Given the description of an element on the screen output the (x, y) to click on. 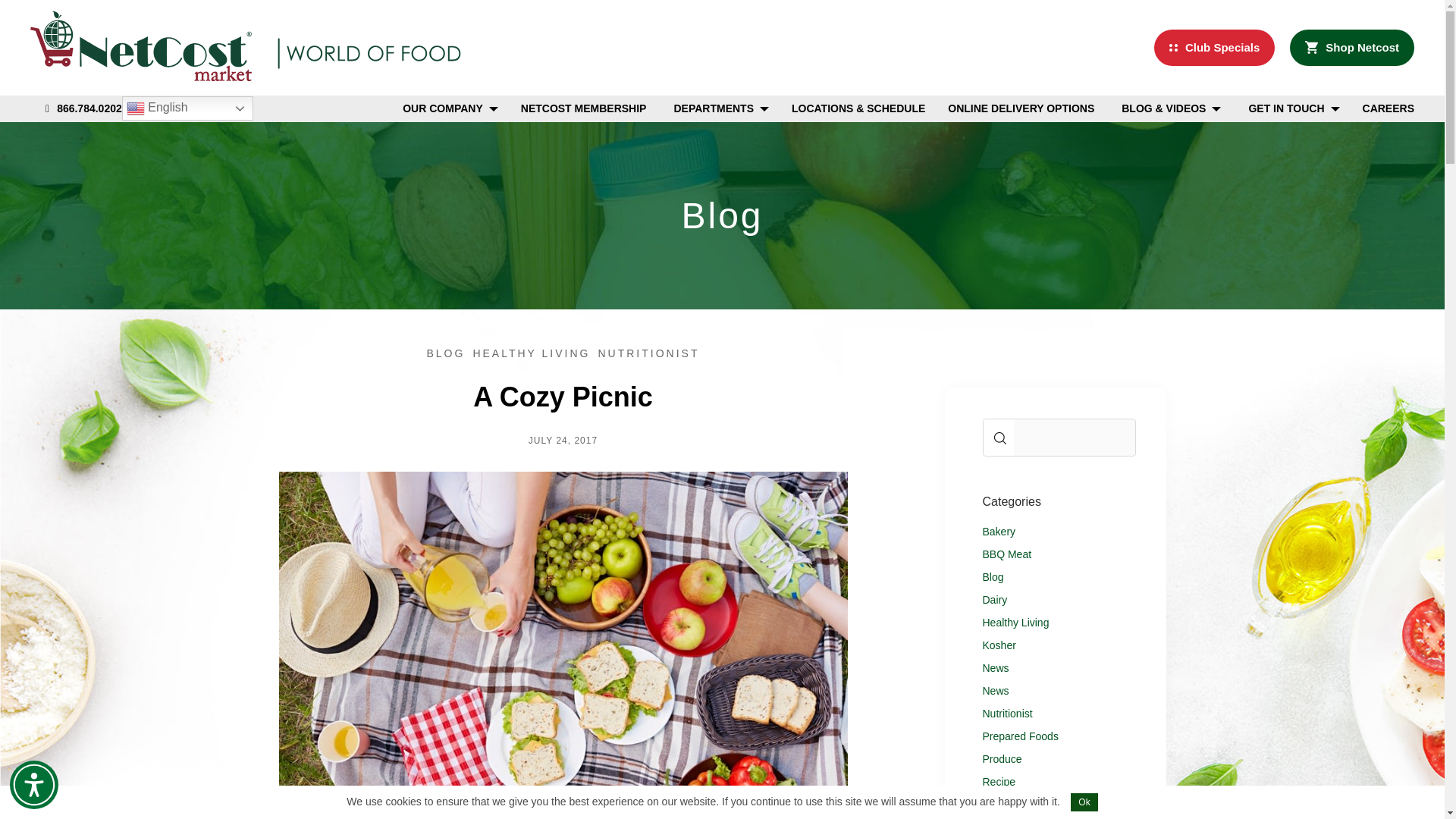
Accessibility Menu (34, 784)
NETCOST MEMBERSHIP (583, 108)
DEPARTMENTS (713, 108)
ONLINE DELIVERY OPTIONS (1020, 108)
Club Specials (1214, 47)
English (187, 108)
OUR COMPANY (443, 108)
866.784.0202 (83, 108)
GET IN TOUCH (1285, 108)
Shop Netcost (1351, 47)
